Given the description of an element on the screen output the (x, y) to click on. 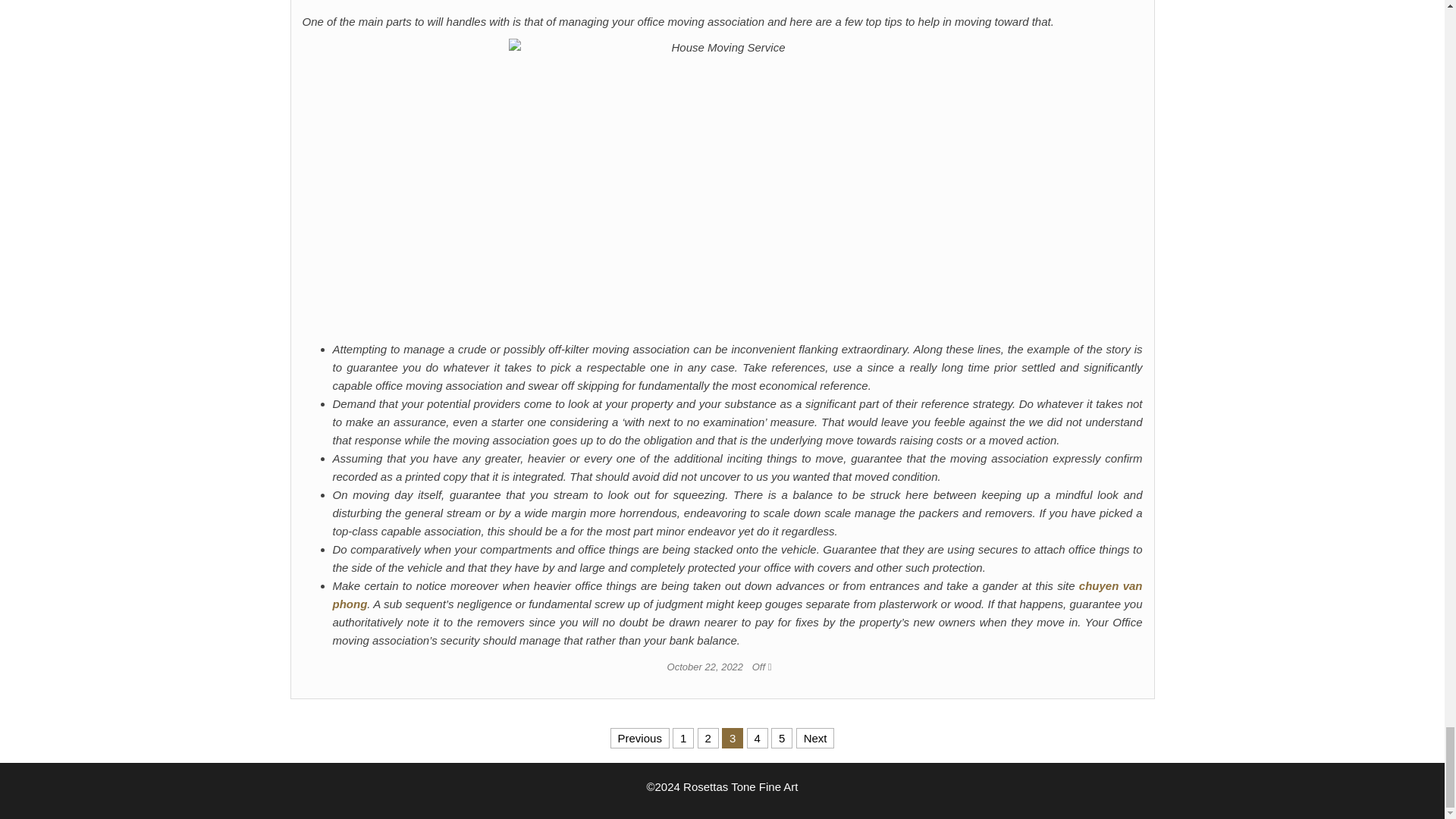
chuyen van phong (736, 594)
2 (708, 738)
4 (757, 738)
1 (683, 738)
Business (721, 1)
Previous (639, 738)
